Given the description of an element on the screen output the (x, y) to click on. 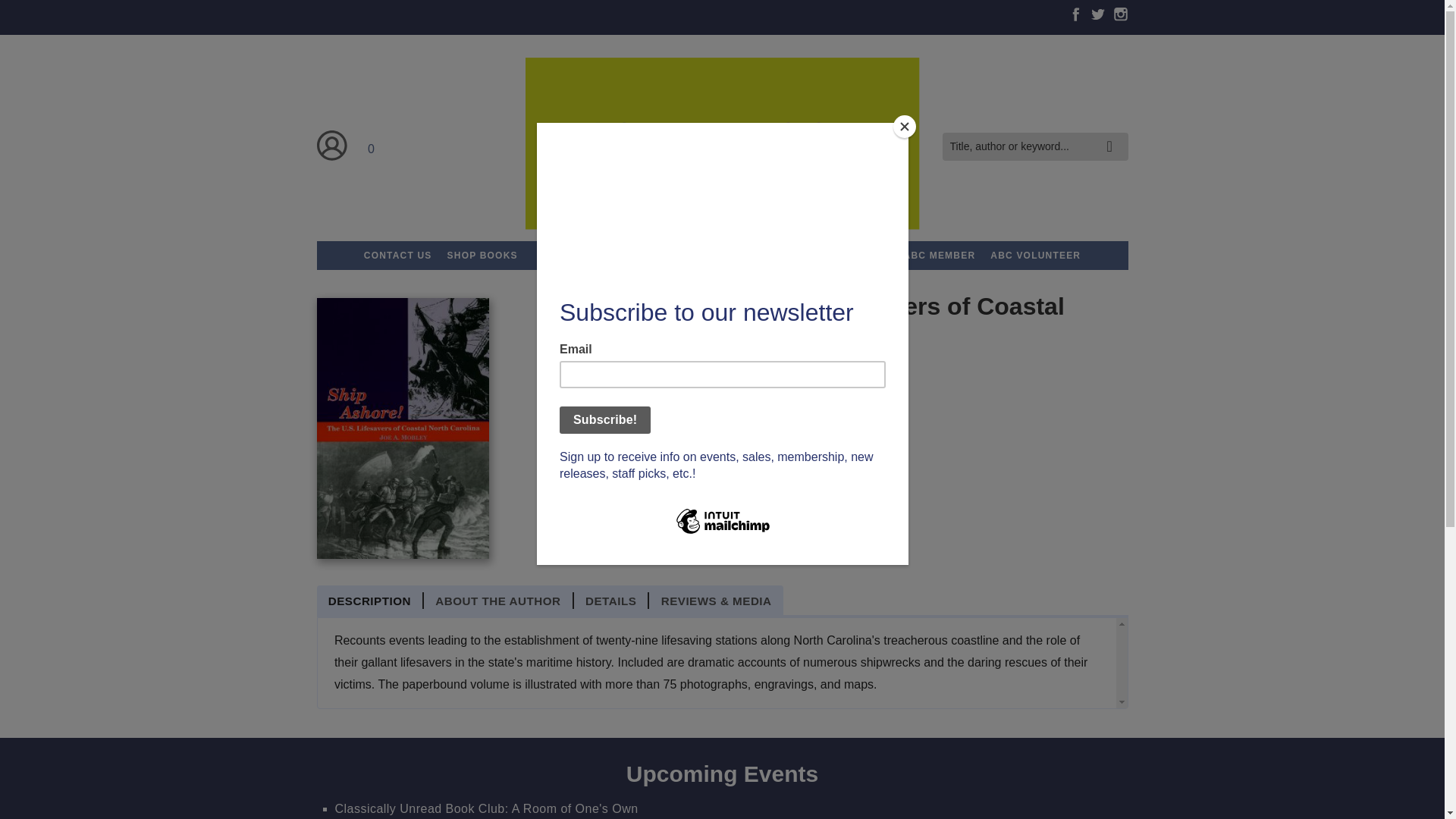
ABOUT THE AUTHOR (498, 600)
Classically Unread Book Club: A Room of One's Own (486, 808)
SHOP BOOKS (482, 255)
Title, author or keyword... (1034, 146)
DETAILS (611, 600)
ABC VOLUNTEER (1034, 255)
Add to Cart (605, 483)
ADD TO WISH LIST (733, 483)
search (1112, 134)
CONTACT US (397, 255)
Home (721, 146)
BECOME AN ABC MEMBER (905, 255)
search (1112, 134)
Joe A. Mobley (617, 383)
